Given the description of an element on the screen output the (x, y) to click on. 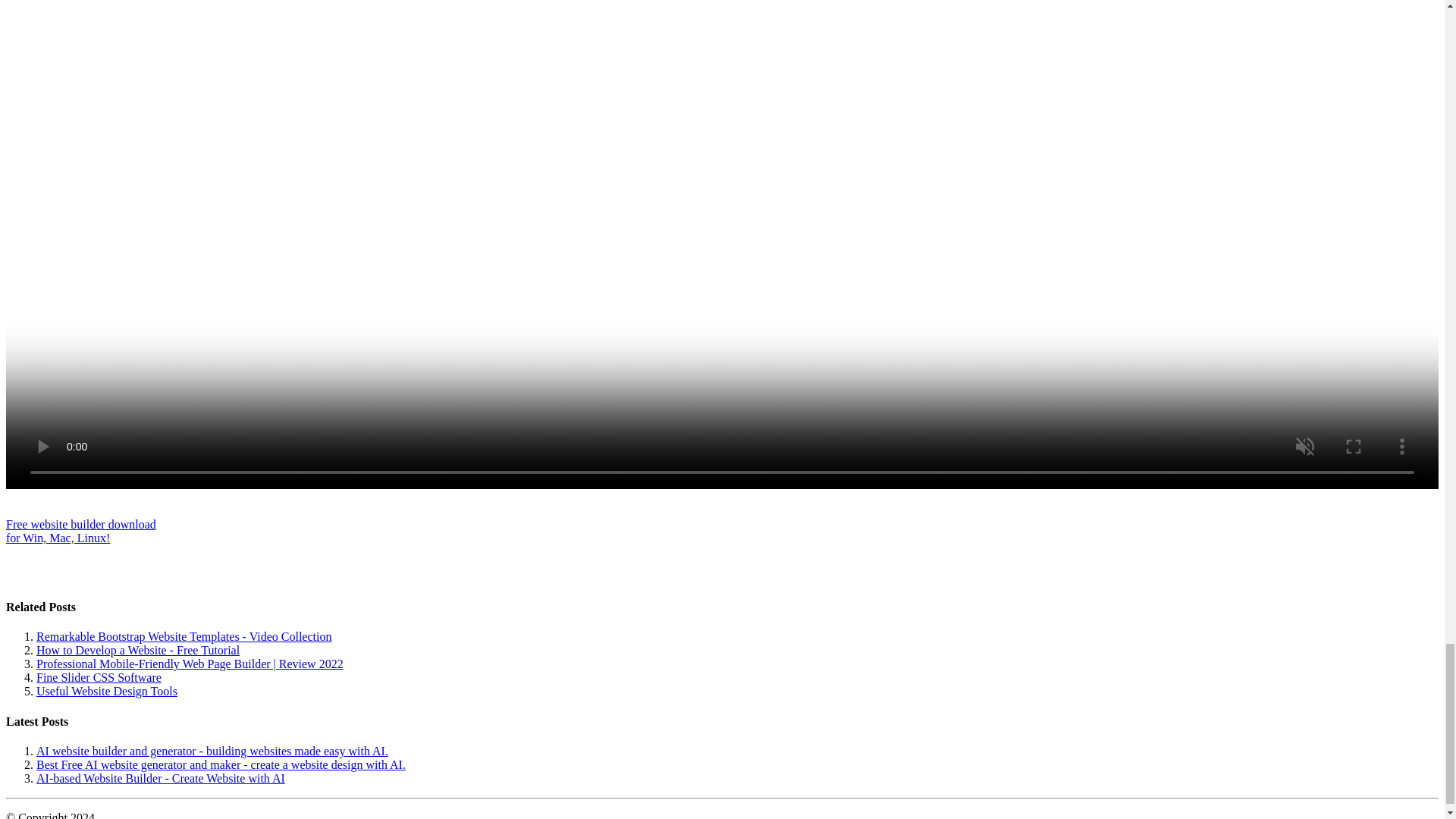
Remarkable Bootstrap Website Templates - Video Collection (183, 635)
AI-based Website Builder - Create Website with AI (80, 530)
Useful Website Design Tools (160, 778)
Fine Slider CSS Software (106, 690)
How to Develop a Website - Free Tutorial (98, 676)
